Given the description of an element on the screen output the (x, y) to click on. 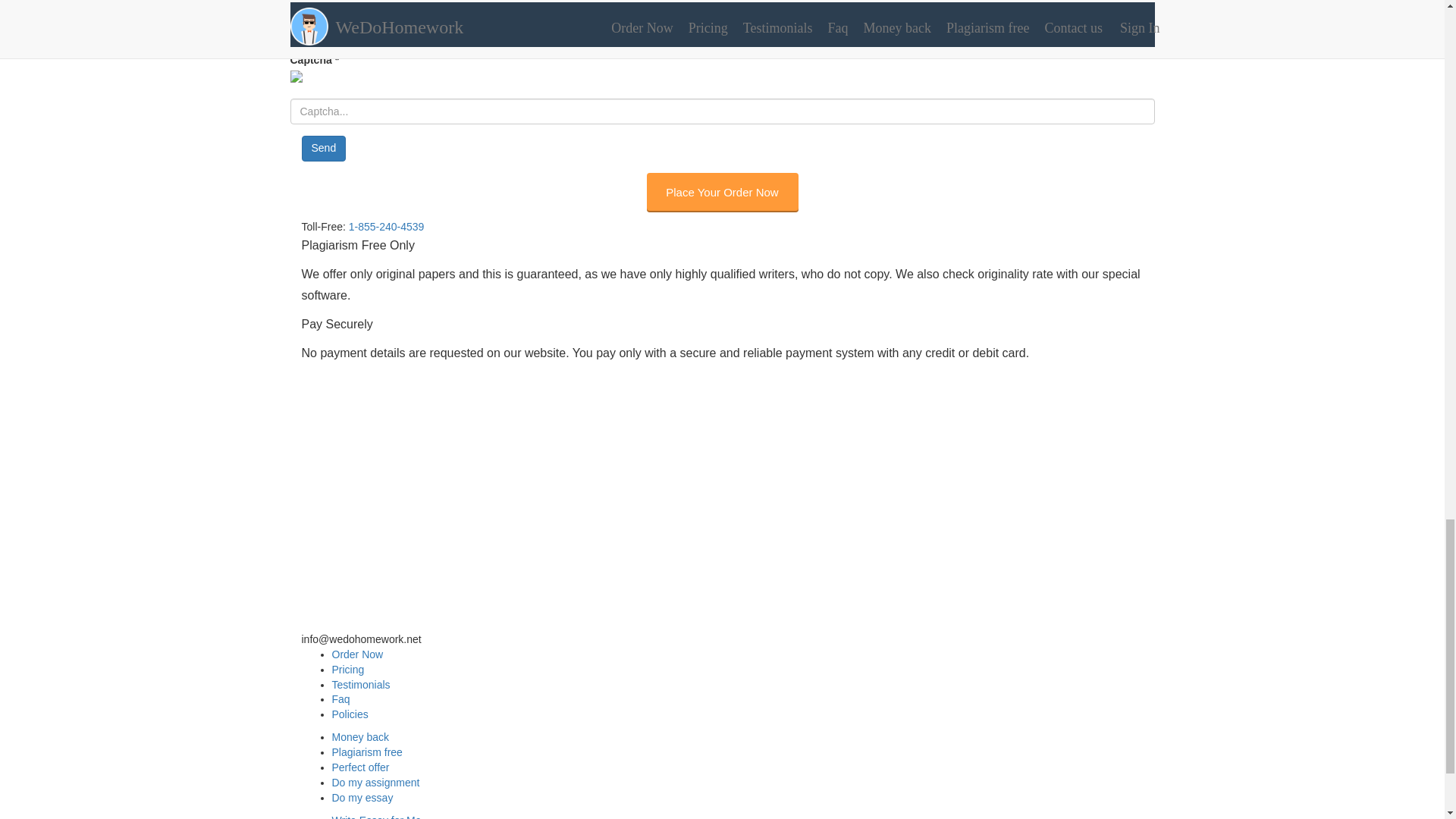
Place Your Order Now (721, 191)
1-855-240-4539 (339, 623)
Place Your Order Now (721, 191)
Send (323, 148)
1-855-240-4539 (387, 226)
